Given the description of an element on the screen output the (x, y) to click on. 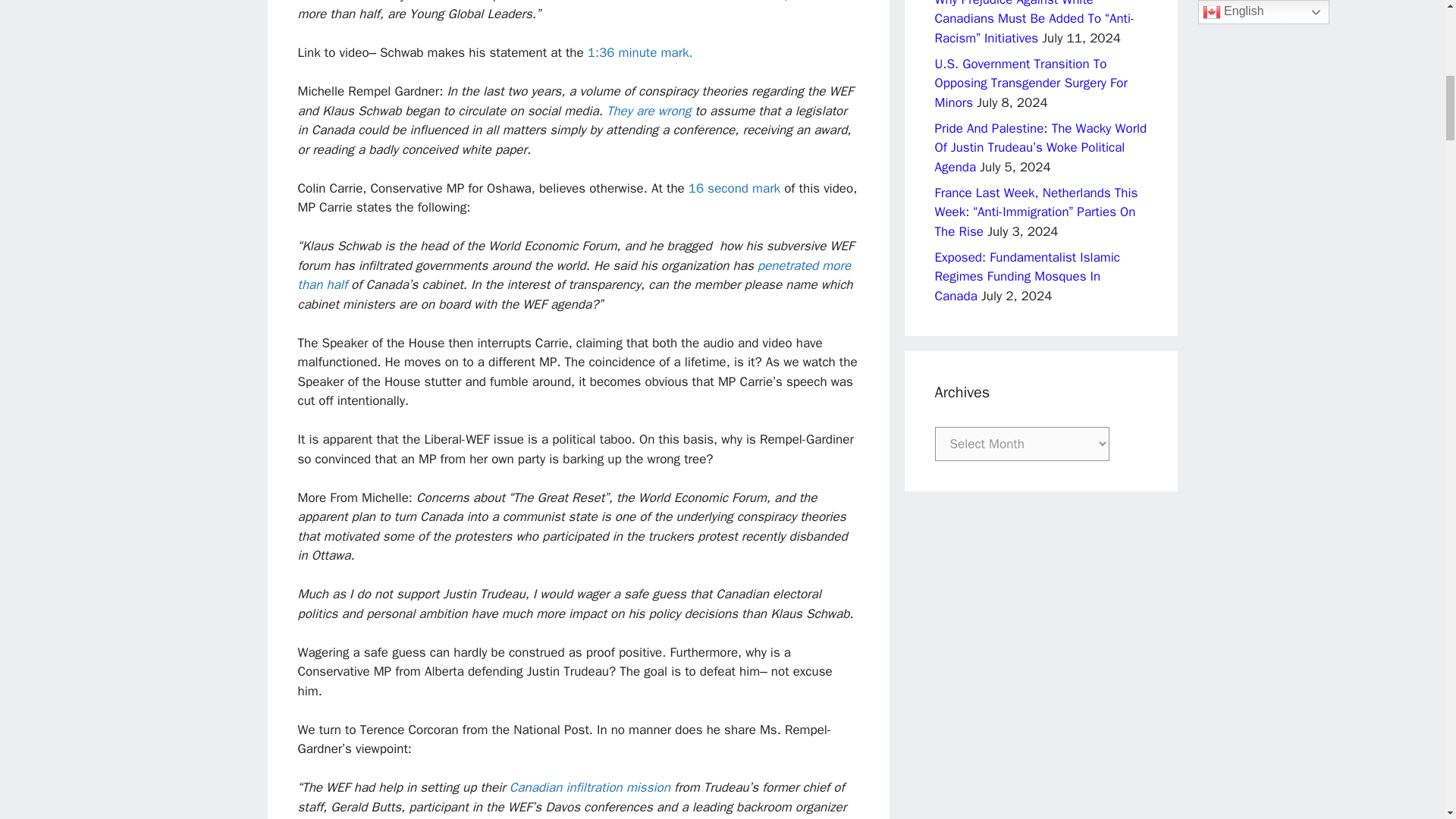
16 second mark (734, 188)
1:36 minute mark. (640, 52)
penetrated more than half (573, 275)
They are wrong (648, 110)
Canadian infiltration mission (589, 787)
